Given the description of an element on the screen output the (x, y) to click on. 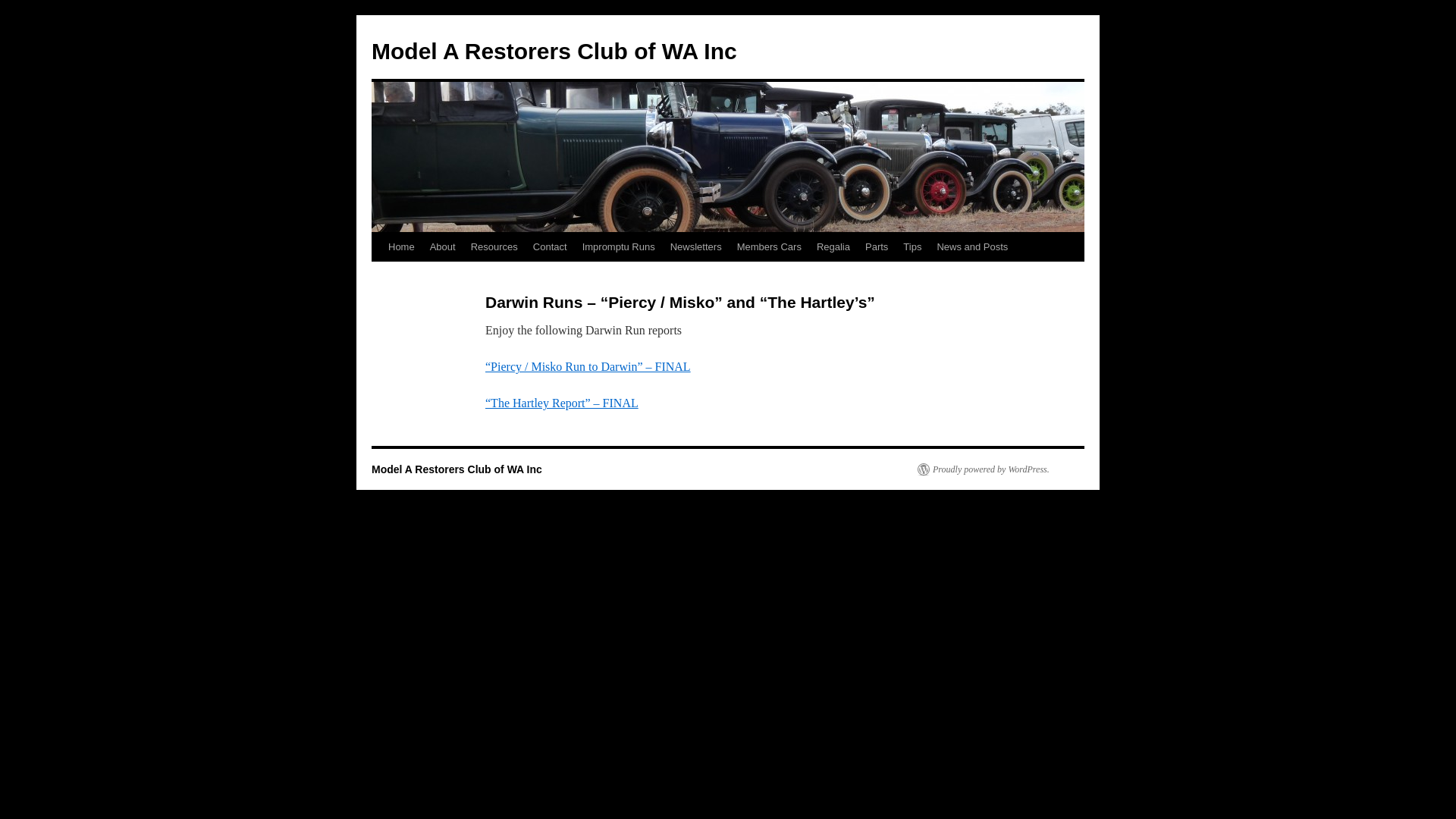
Parts Element type: text (876, 246)
Tips Element type: text (911, 246)
Contact Element type: text (549, 246)
Proudly powered by WordPress. Element type: text (983, 469)
Members Cars Element type: text (769, 246)
Skip to content Element type: text (377, 275)
Resources Element type: text (494, 246)
Model A Restorers Club of WA Inc Element type: text (554, 50)
Model A Restorers Club of WA Inc Element type: text (456, 469)
Impromptu Runs Element type: text (618, 246)
Home Element type: text (401, 246)
About Element type: text (442, 246)
Regalia Element type: text (833, 246)
Newsletters Element type: text (695, 246)
News and Posts Element type: text (971, 246)
